Given the description of an element on the screen output the (x, y) to click on. 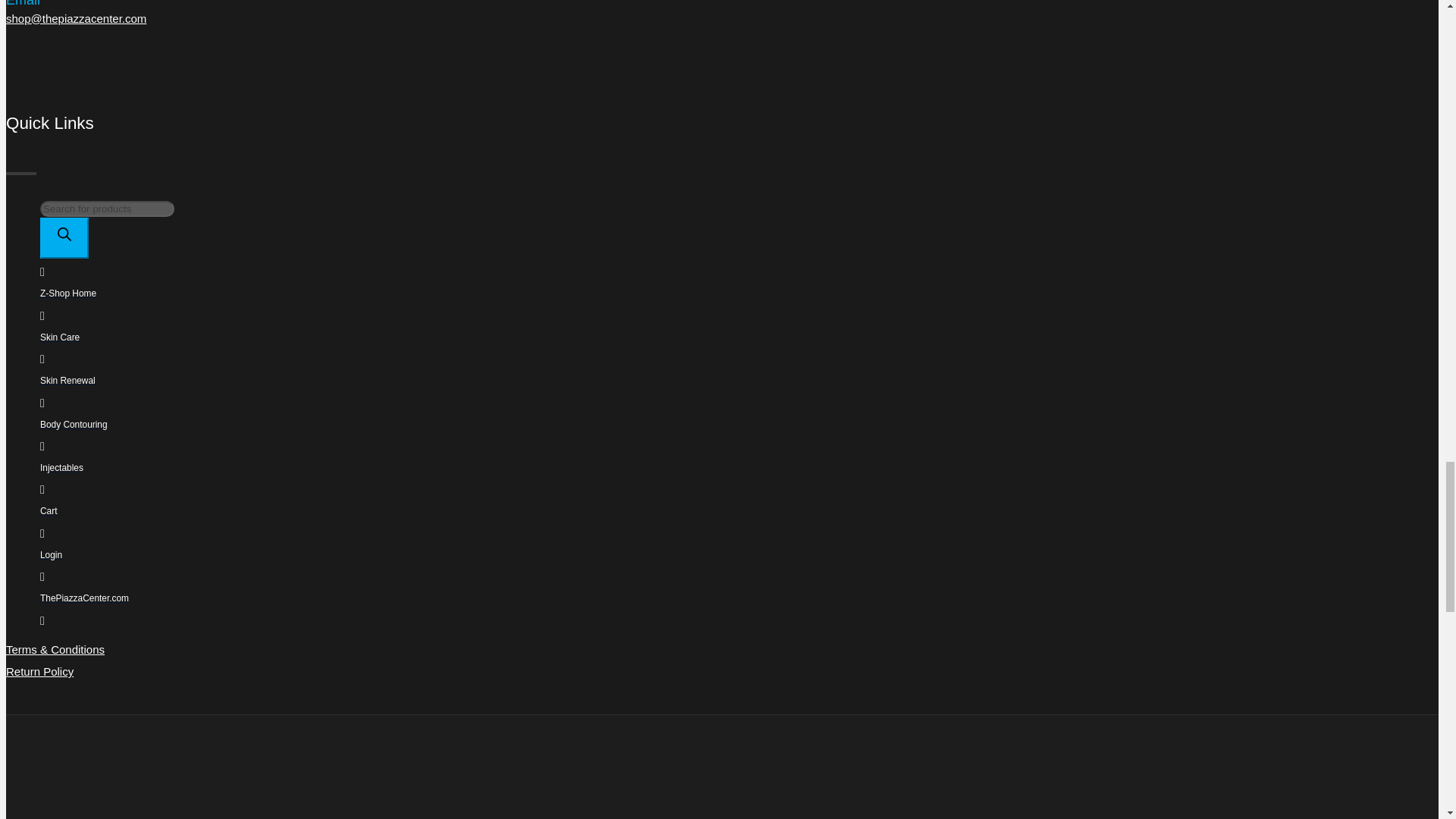
Skin Care (475, 349)
Products search (475, 240)
Z-Shop Home (475, 305)
Skin Renewal (475, 392)
Body Contouring (475, 436)
